Given the description of an element on the screen output the (x, y) to click on. 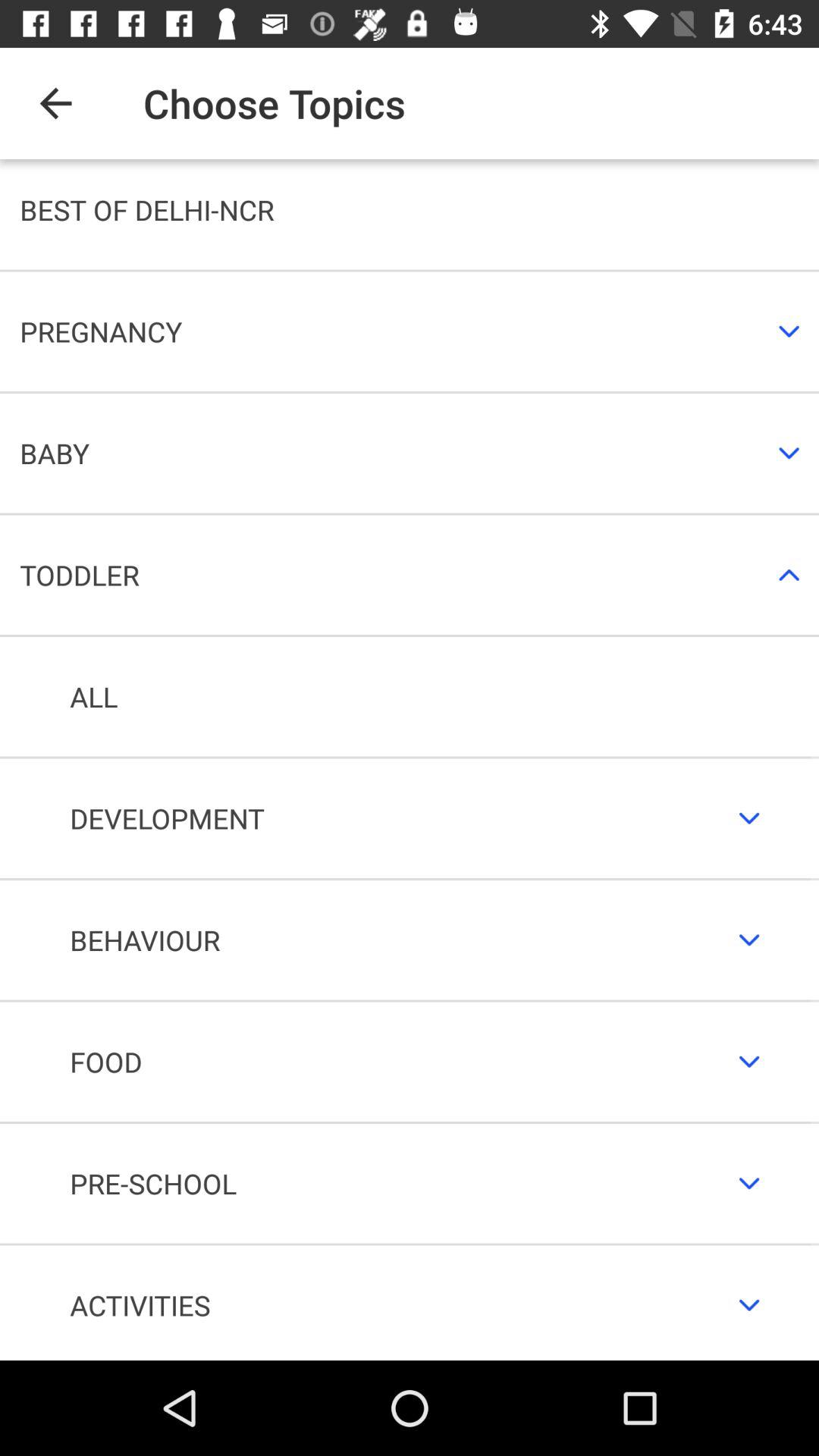
tap the item next to the choose topics item (55, 103)
